Given the description of an element on the screen output the (x, y) to click on. 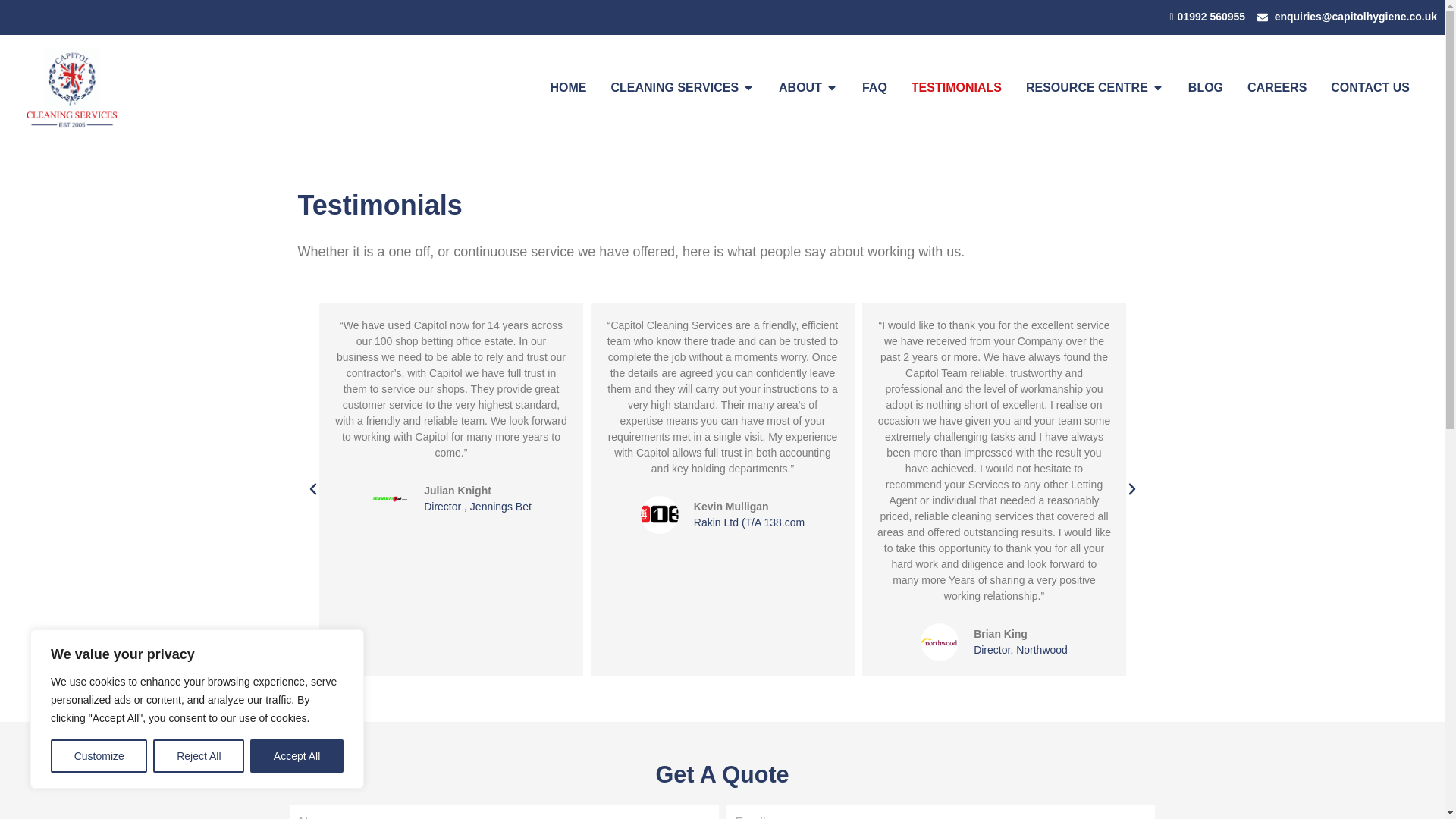
01992 560955 (1202, 17)
Customize (98, 756)
Accept All (296, 756)
Reject All (198, 756)
